Given the description of an element on the screen output the (x, y) to click on. 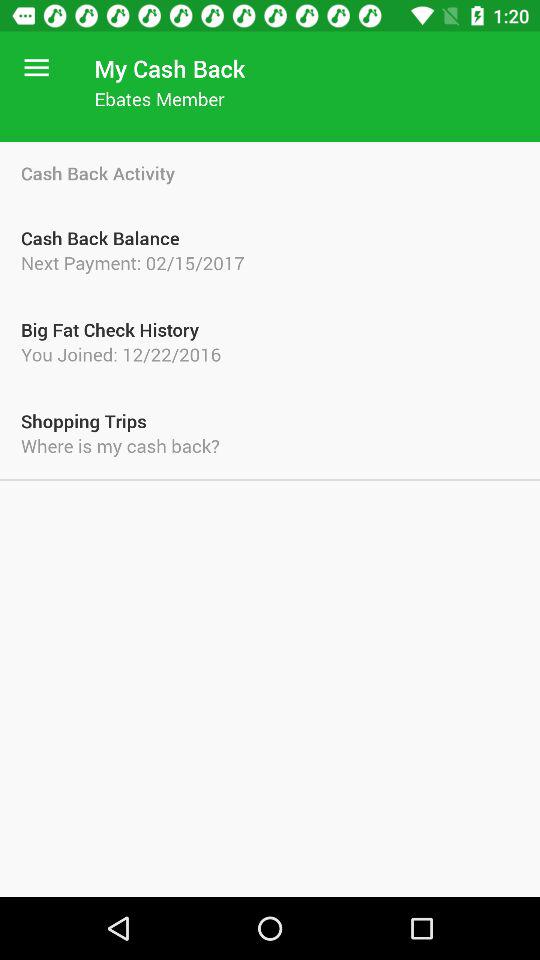
launch icon above big fat check item (270, 262)
